Given the description of an element on the screen output the (x, y) to click on. 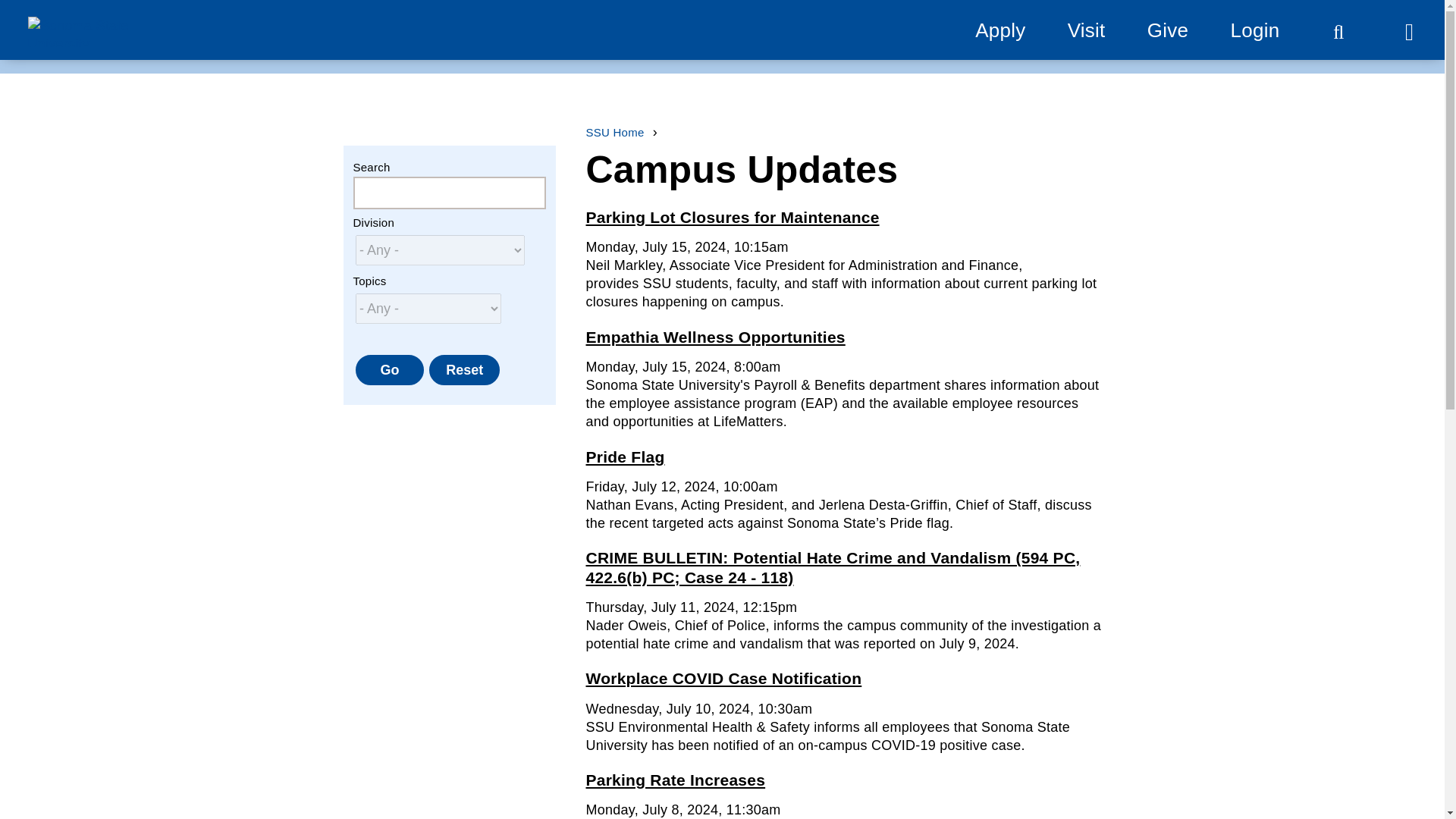
Go (389, 369)
Apply (1000, 30)
Reset (464, 369)
Jump to content (69, 19)
Visit (1086, 30)
Give (1167, 30)
Login (1254, 30)
